Given the description of an element on the screen output the (x, y) to click on. 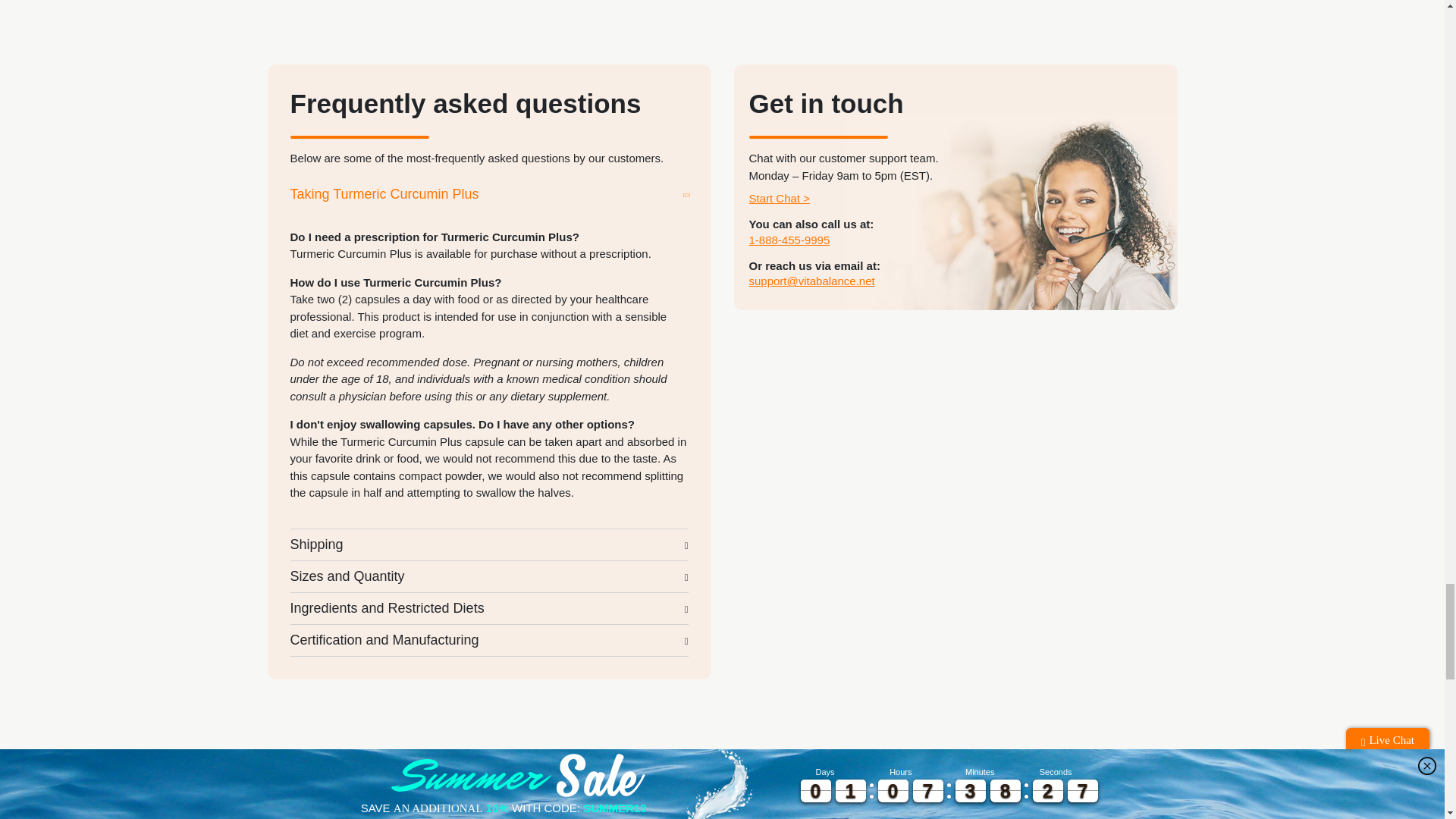
1-888-455-9995 (789, 239)
